Given the description of an element on the screen output the (x, y) to click on. 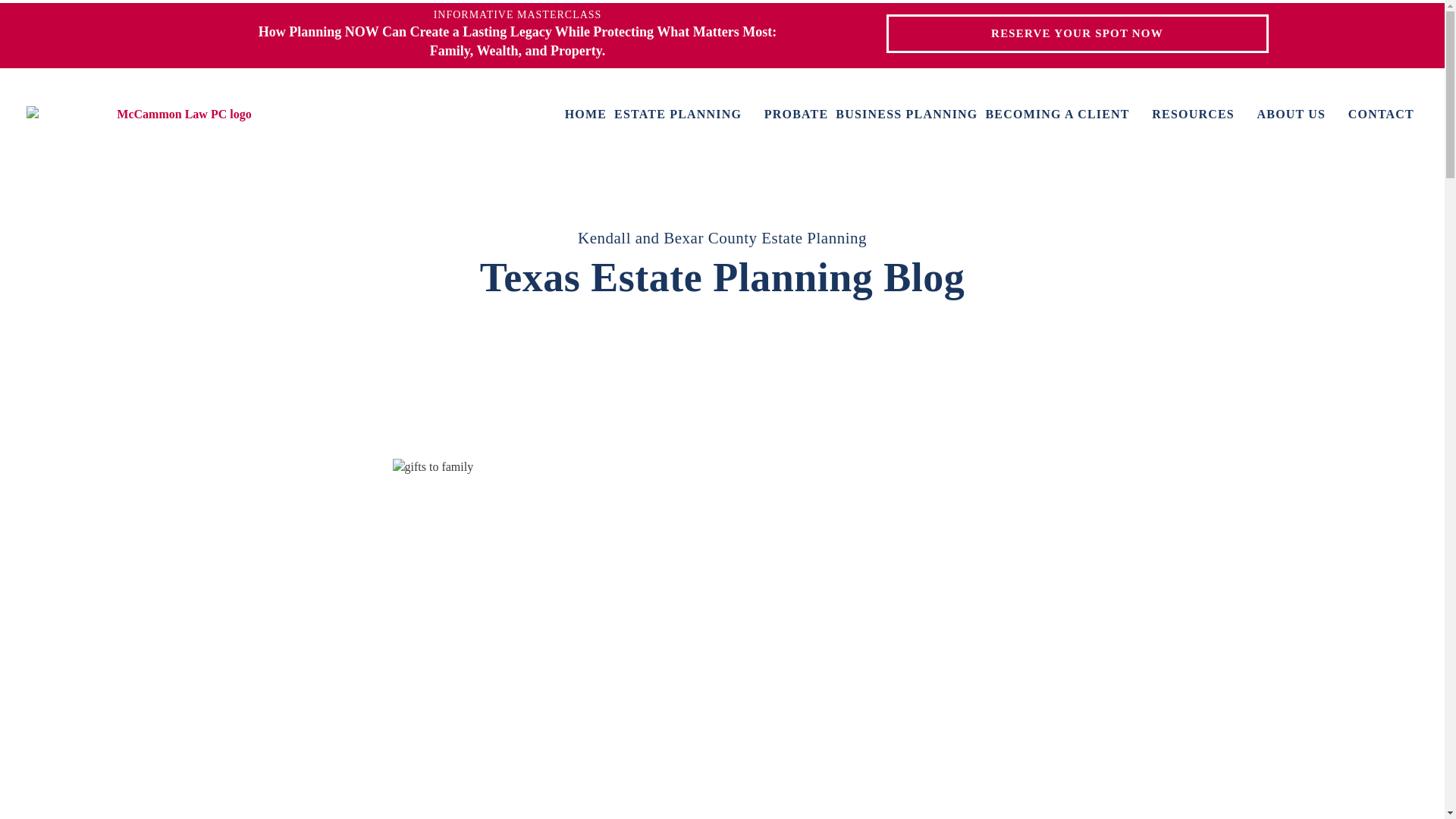
HOME (585, 114)
RESERVE YOUR SPOT NOW (1076, 33)
BUSINESS PLANNING (905, 114)
McCammon Law, P.C. (178, 114)
BECOMING A CLIENT (1064, 114)
cash-dollars-hands-money-271168 (722, 466)
PROBATE (796, 114)
ABOUT US (1298, 114)
CONTACT (1380, 114)
ESTATE PLANNING (685, 114)
RESOURCES (1200, 114)
